Given the description of an element on the screen output the (x, y) to click on. 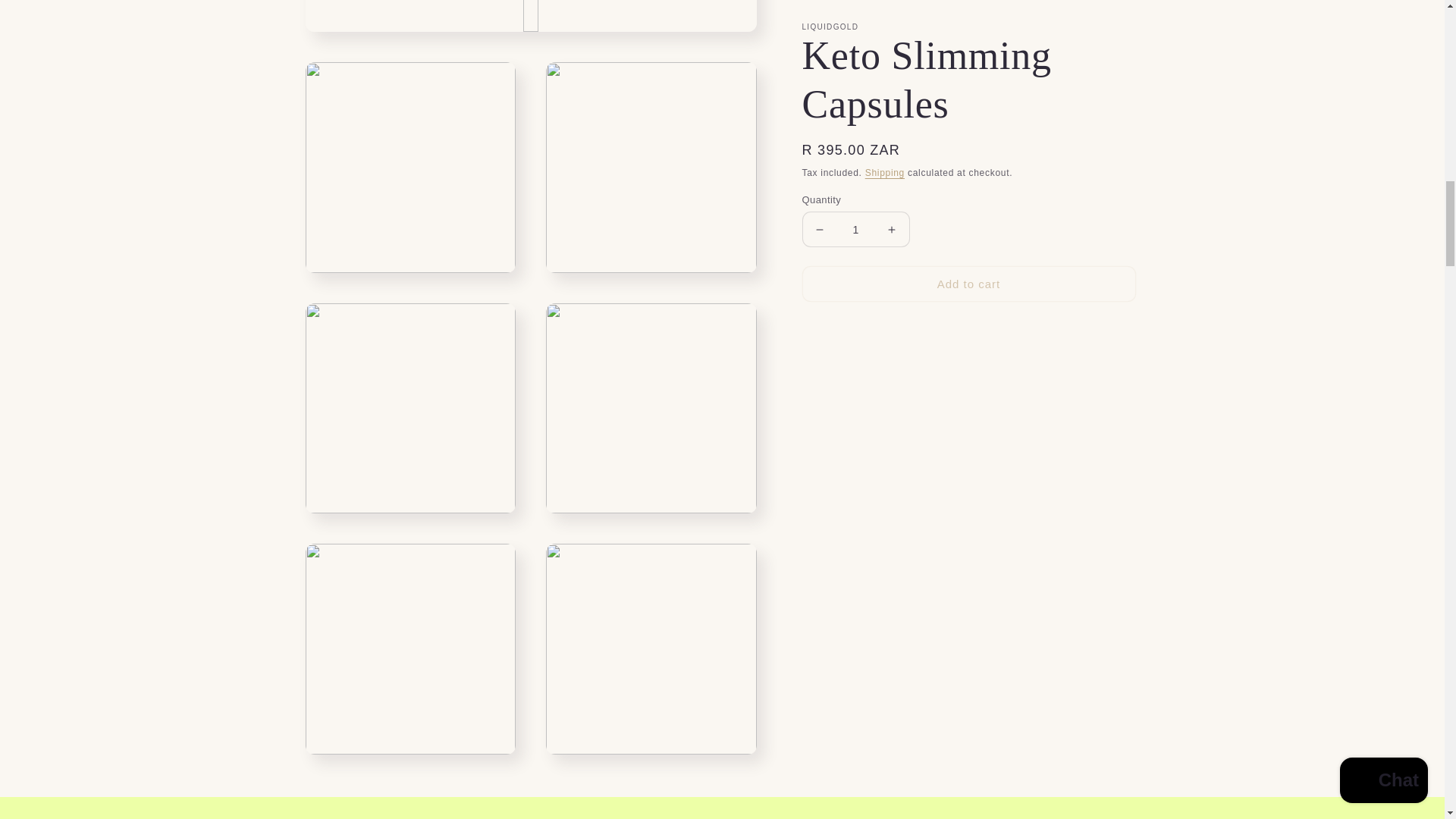
Play video (529, 16)
